Given the description of an element on the screen output the (x, y) to click on. 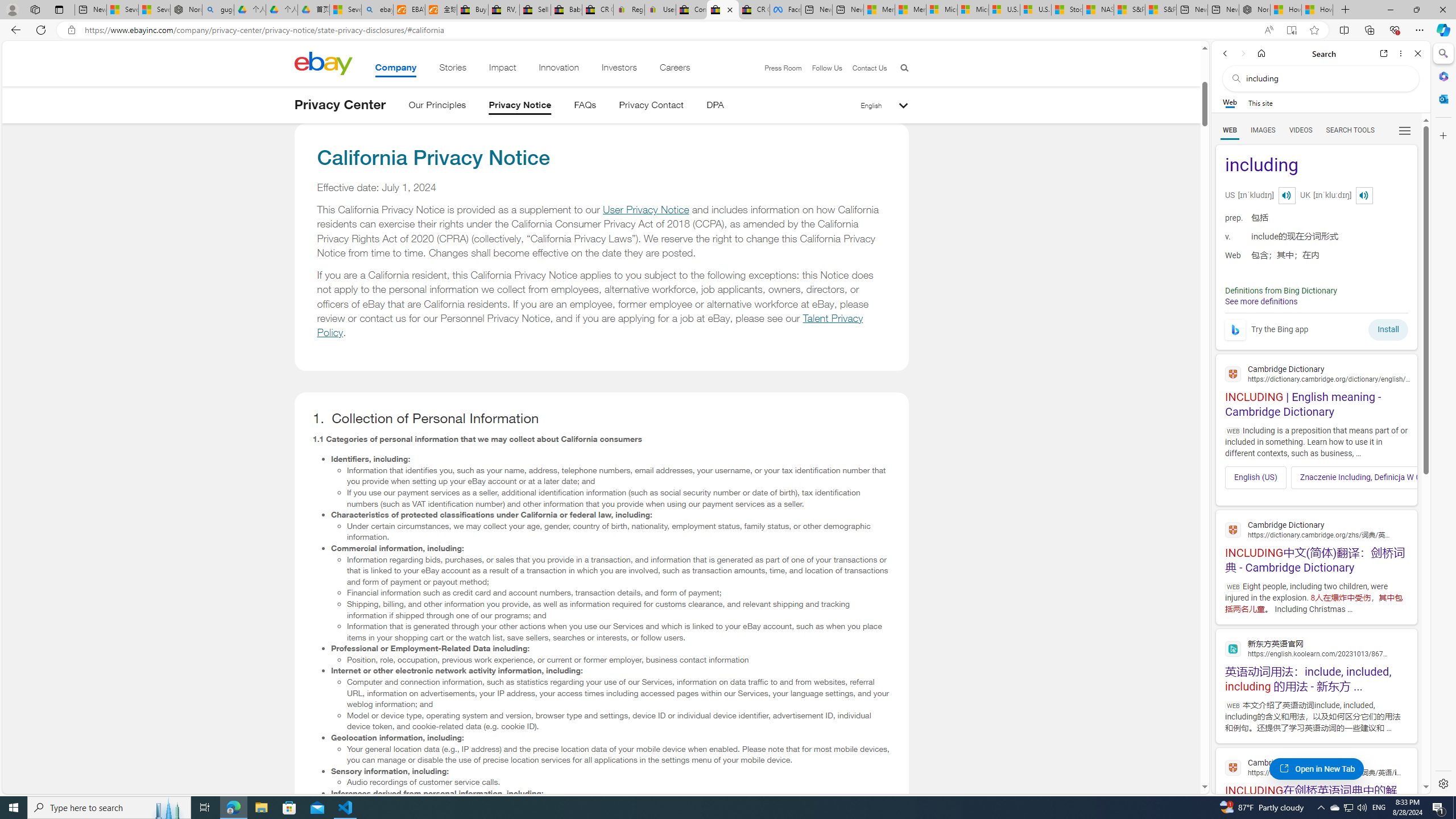
SEARCH TOOLS (1350, 130)
IMAGES (1262, 130)
Search Filter, VIDEOS (1300, 129)
